Given the description of an element on the screen output the (x, y) to click on. 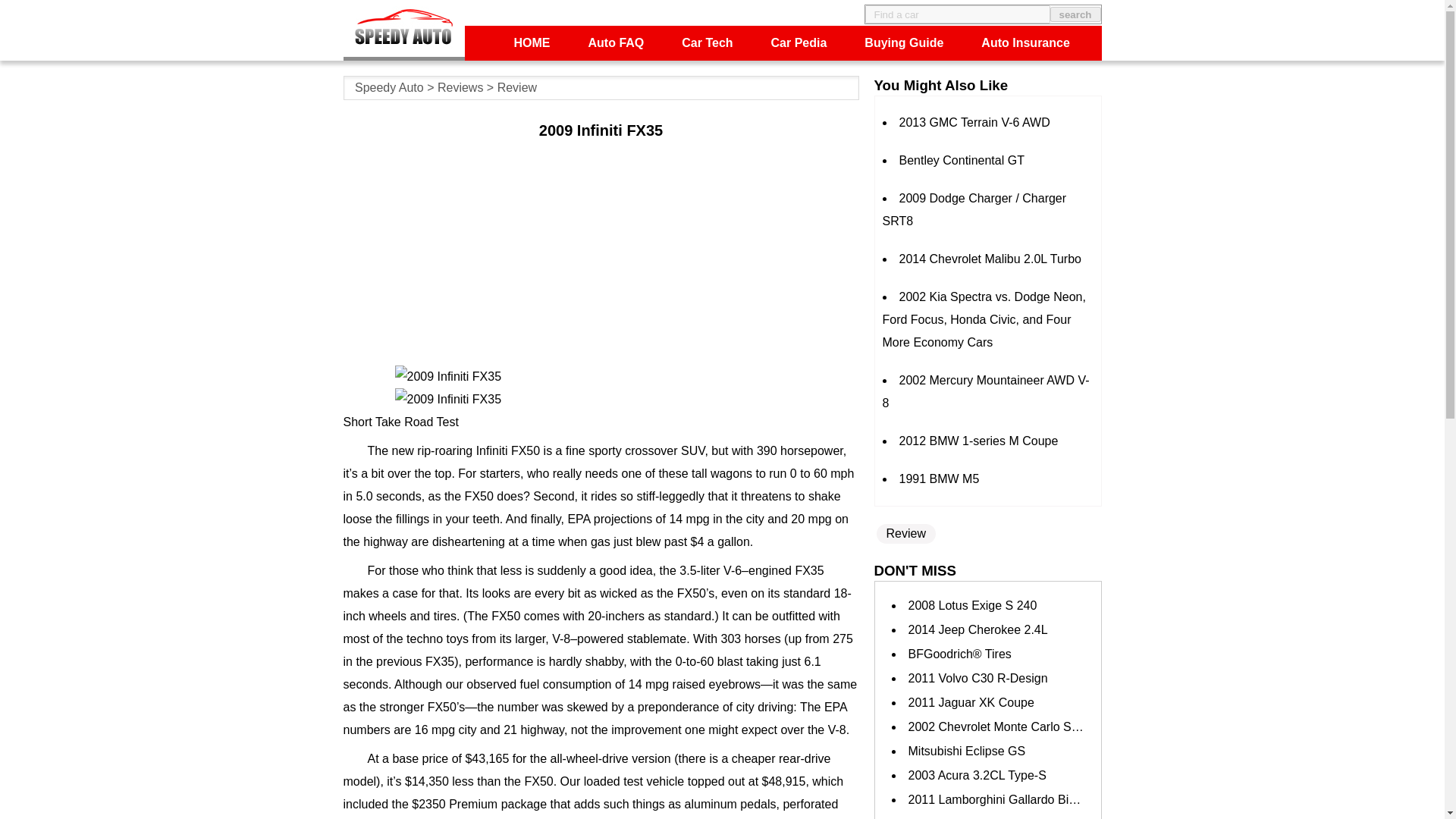
2009 Infiniti FX35 (600, 376)
2002 Mercury Mountaineer AWD V-8 (985, 391)
search (1074, 14)
1991 BMW M5 (939, 478)
Auto Insurance (1024, 42)
search (1074, 14)
Mitsubishi Eclipse GS (967, 750)
HOME (531, 42)
Buying Guide (903, 42)
2011 Jaguar XK Coupe (970, 702)
HOME (531, 42)
Auto FAQ (616, 42)
Car Tech (706, 42)
